Given the description of an element on the screen output the (x, y) to click on. 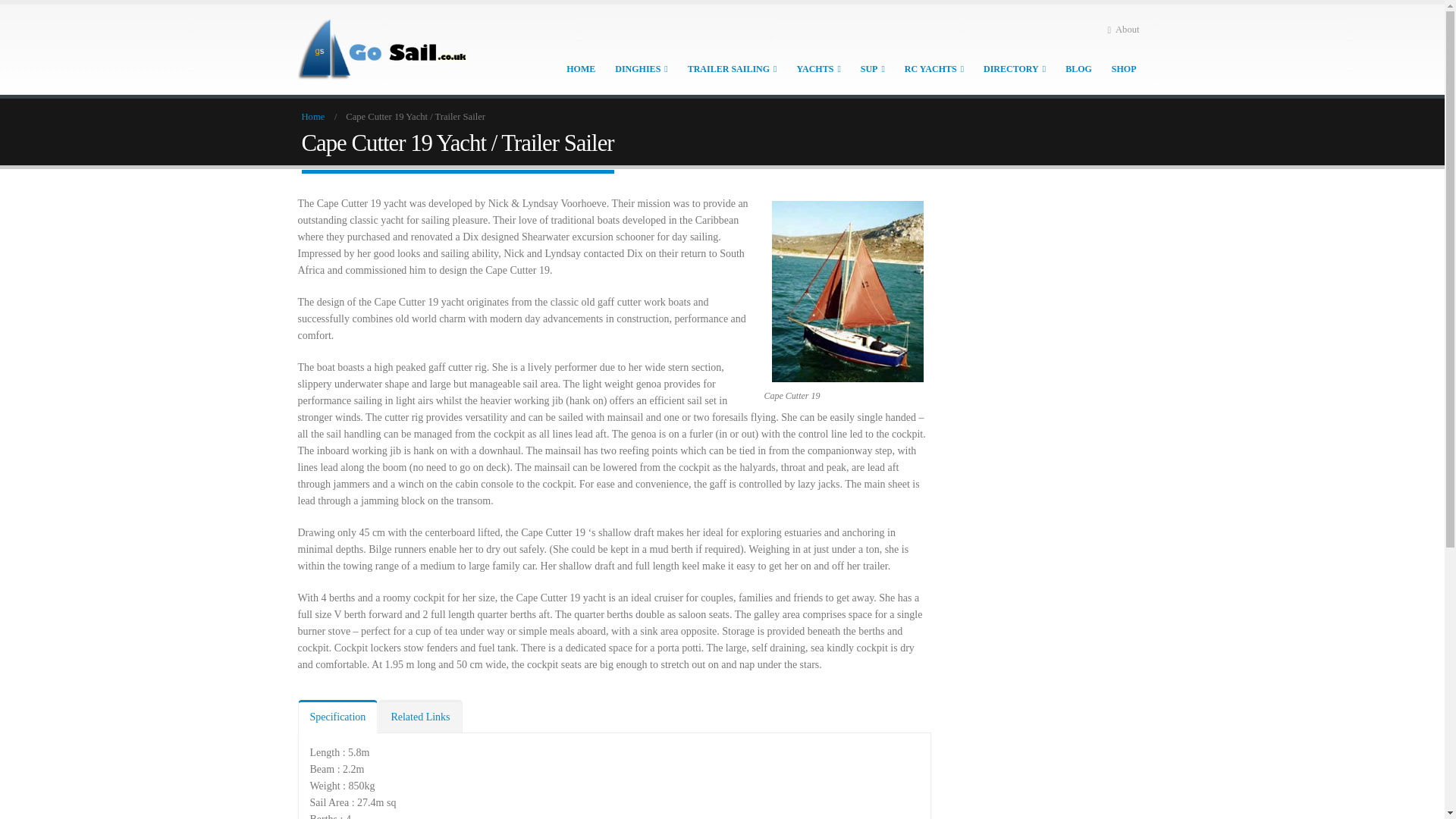
Home (312, 116)
TRAILER SAILING (732, 68)
About (1123, 29)
SHOP (1123, 68)
HOME (580, 68)
SUP (872, 68)
BLOG (1078, 68)
DIRECTORY (1014, 68)
Go Sail - Dinghy sailing, trailer sailing and yacht sailing. (391, 49)
Related Links (419, 716)
